Given the description of an element on the screen output the (x, y) to click on. 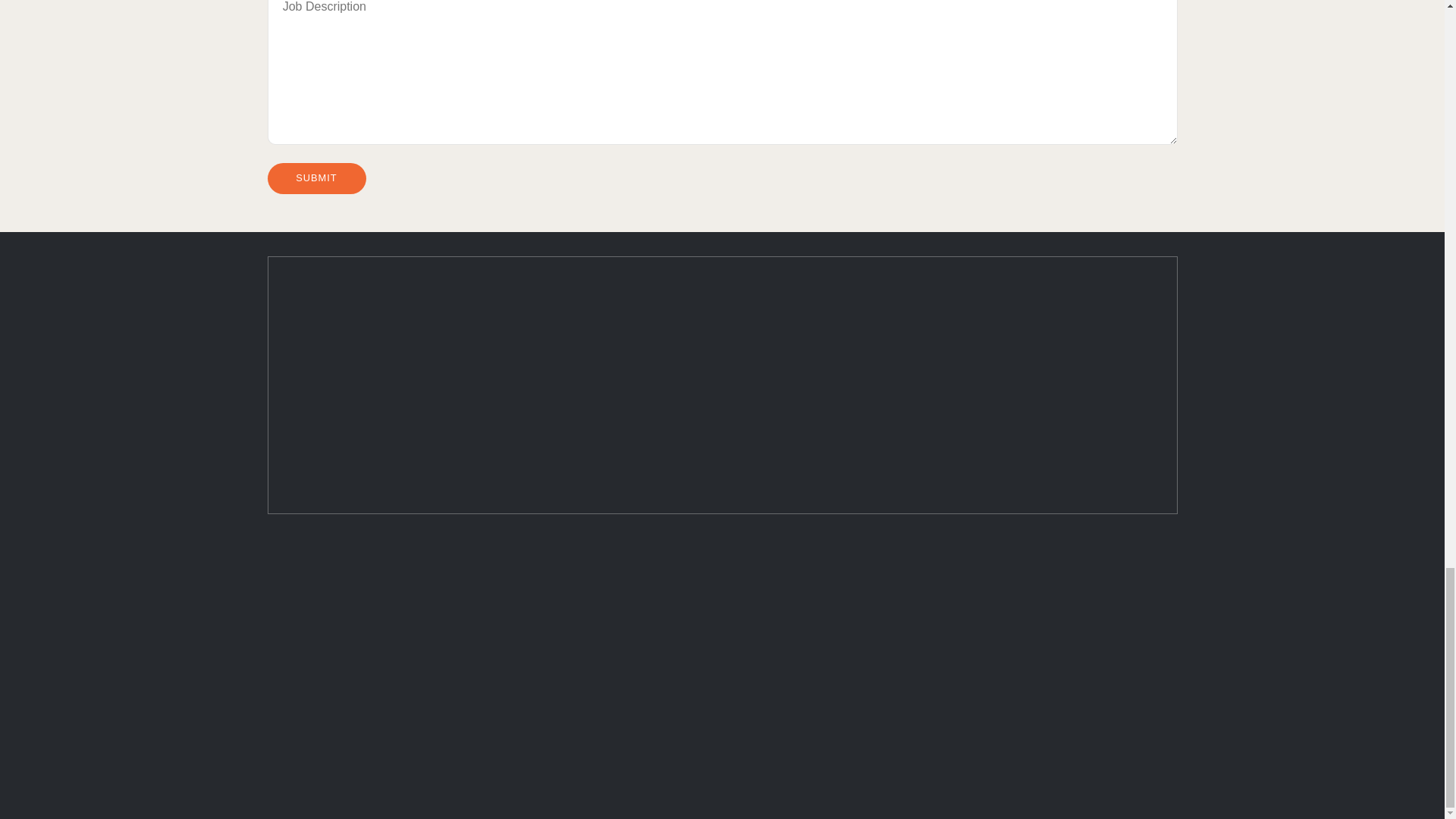
Submit (315, 178)
Submit (315, 178)
